Given the description of an element on the screen output the (x, y) to click on. 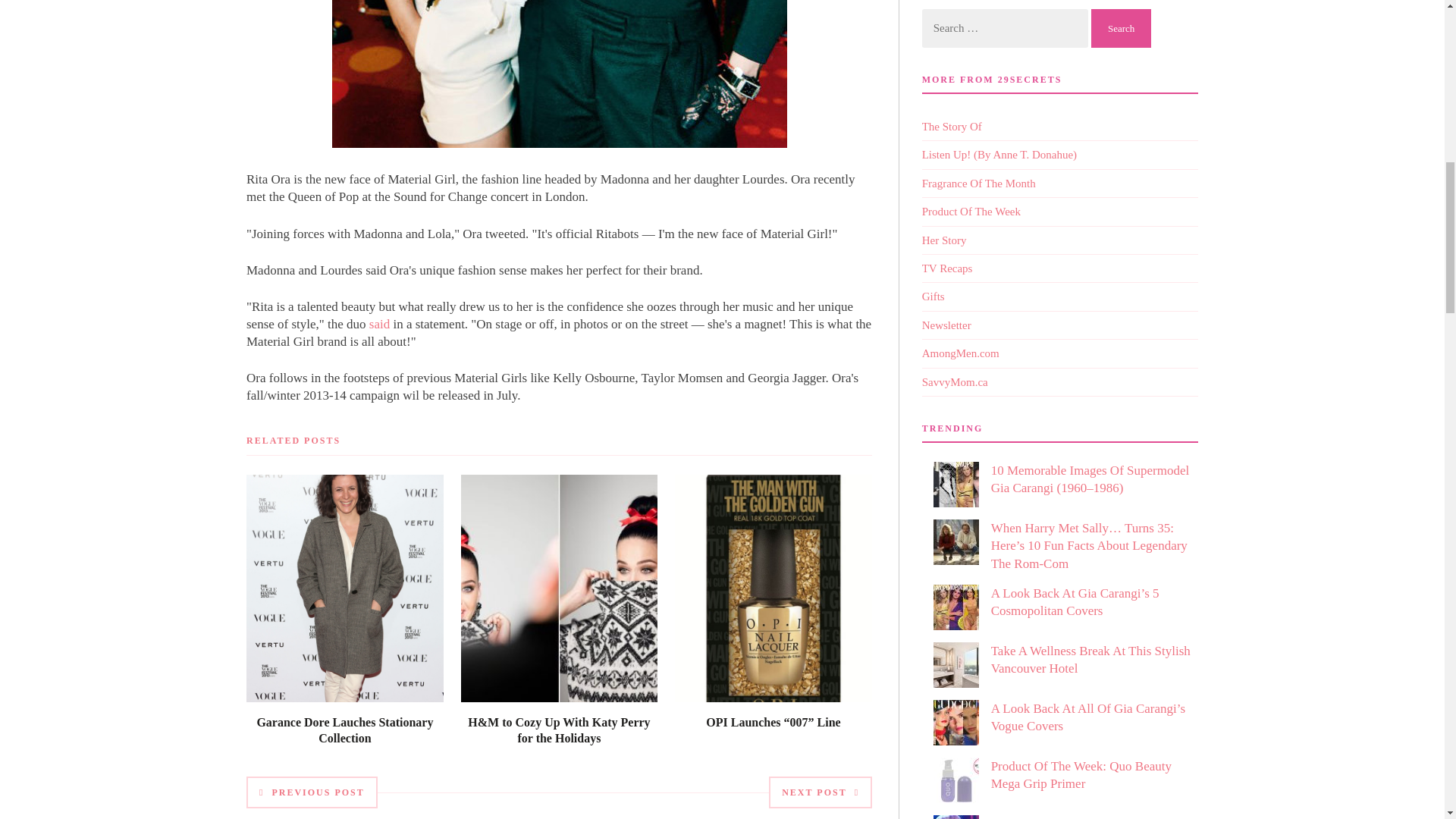
Search (1120, 28)
Search (1120, 28)
Garance Dore Lauches Stationary Collection (344, 729)
said (379, 323)
